Given the description of an element on the screen output the (x, y) to click on. 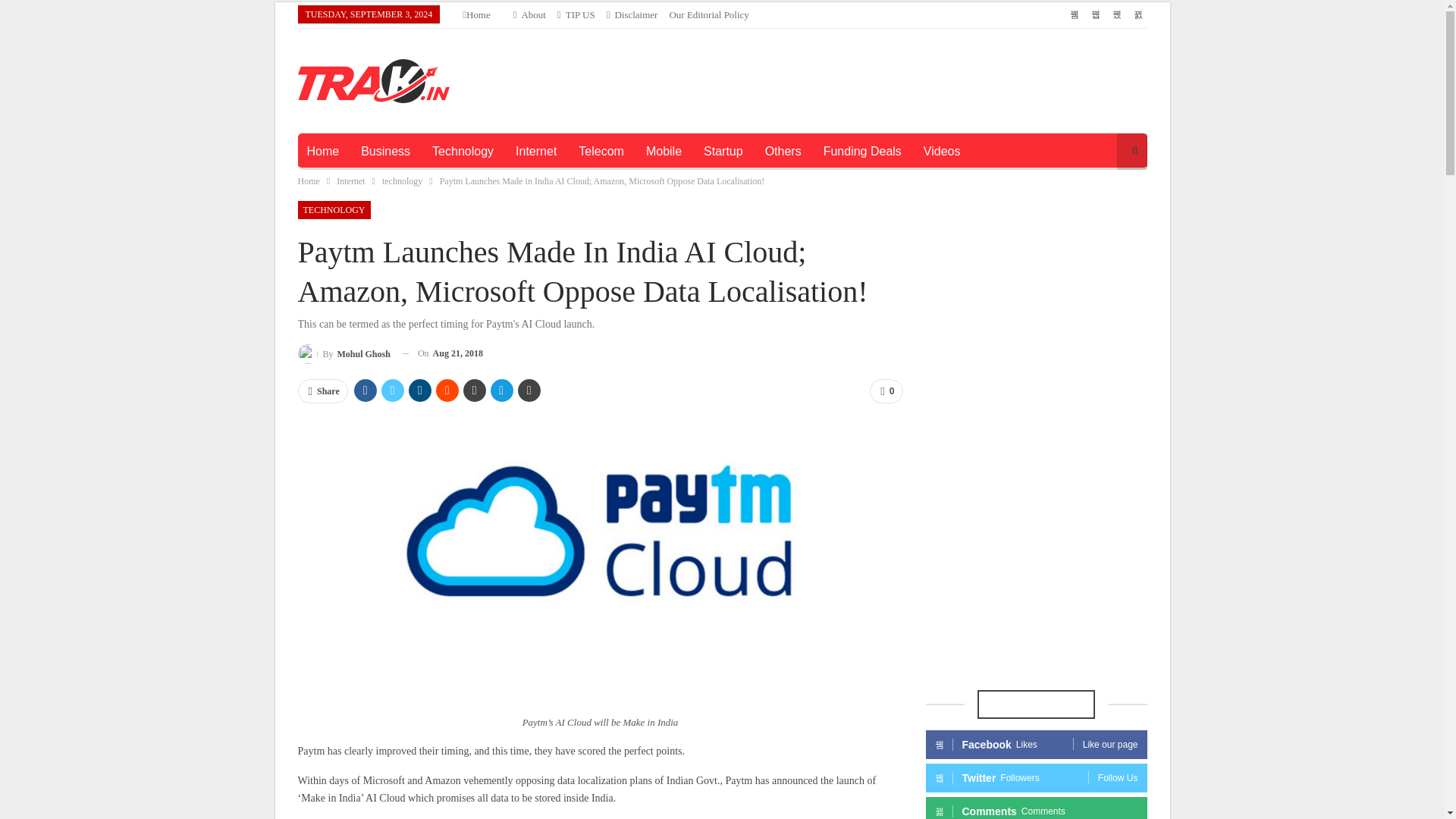
Mobile (663, 151)
technology (401, 180)
Get in Touch (576, 14)
About (529, 14)
Disclaimer (632, 14)
TECHNOLOGY (333, 209)
Internet (536, 151)
Startup (723, 151)
TIP US (576, 14)
Others (782, 151)
